Given the description of an element on the screen output the (x, y) to click on. 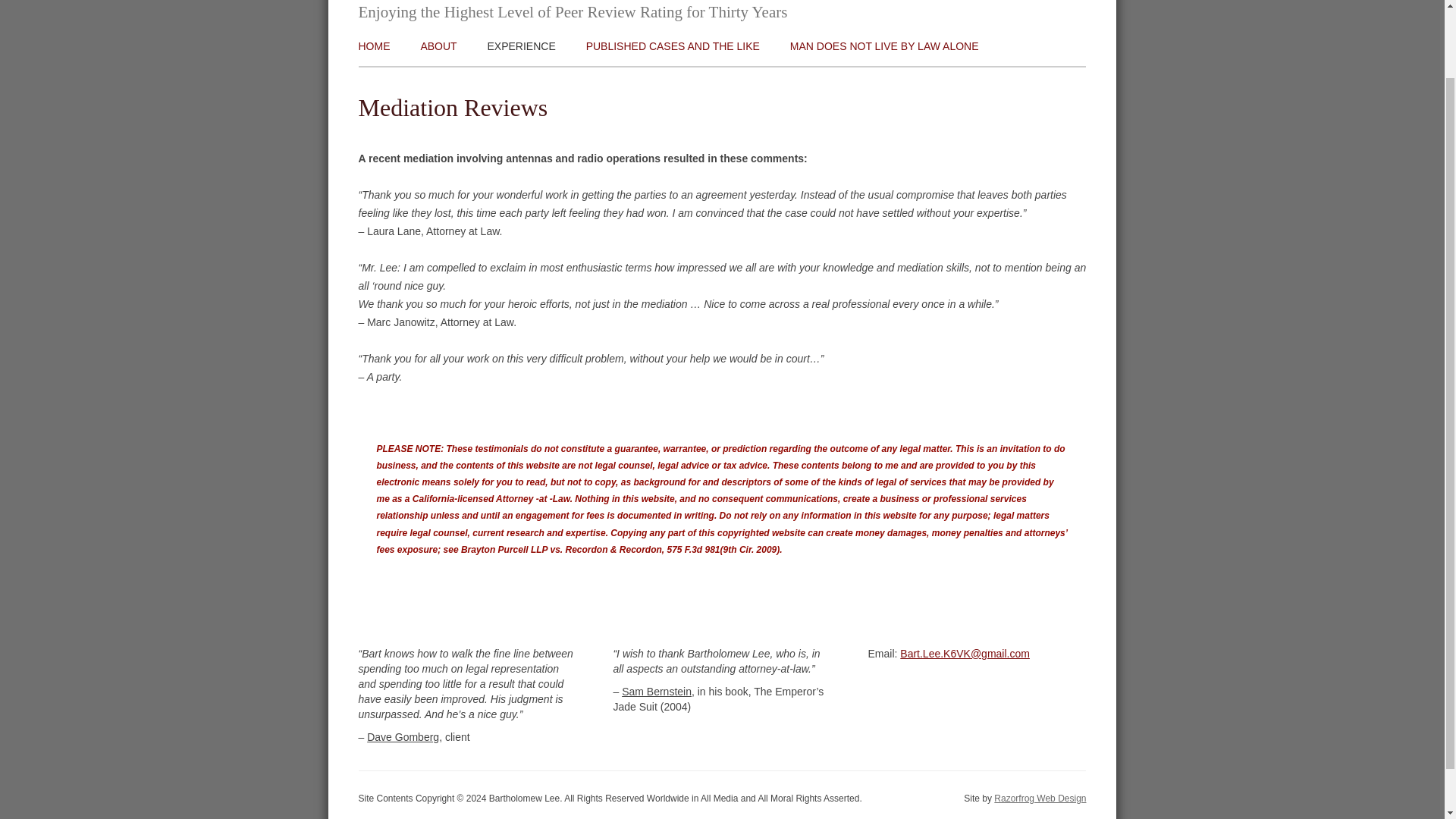
About (522, 81)
Published Cases, etc. (688, 81)
EXPERIENCE (590, 81)
EXPERIENCE (521, 46)
PUBLISHED CASES AND THE LIKE (688, 81)
Razorfrog Web Design (1040, 798)
About Bart Lee (438, 46)
Services (590, 81)
MAN DOES NOT LIVE BY LAW ALONE (884, 46)
Published Cases, etc. (673, 46)
PUBLISHED CASES AND THE LIKE (673, 46)
ABOUT (438, 46)
HOME (374, 46)
ABOUT (522, 81)
